Given the description of an element on the screen output the (x, y) to click on. 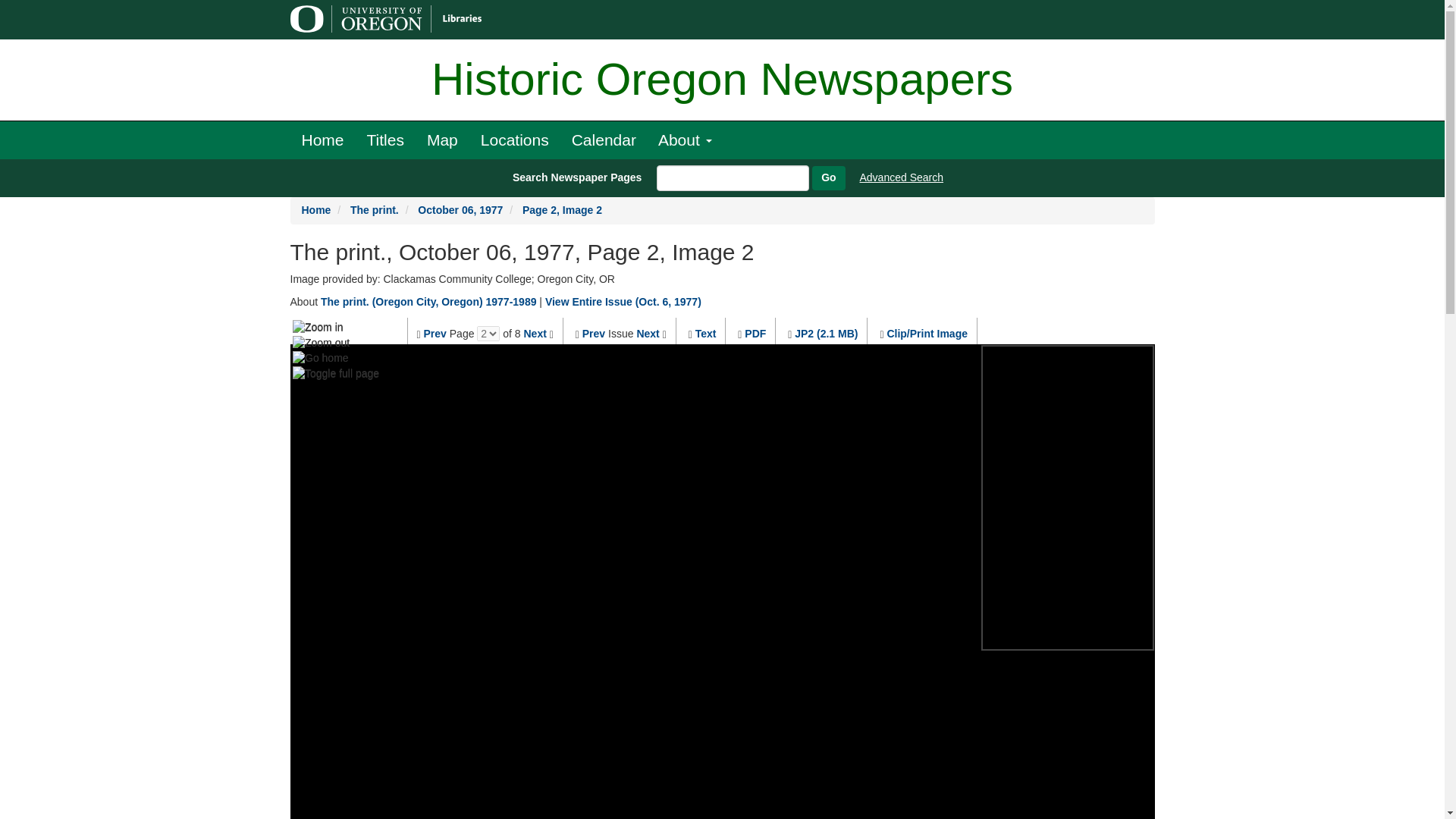
Page 2, Image 2 (562, 209)
Titles (384, 139)
Prev (434, 333)
The print. (374, 209)
Calendar (603, 139)
Go home (320, 358)
Home (316, 209)
Home (322, 139)
Locations (514, 139)
Map (441, 139)
